Given the description of an element on the screen output the (x, y) to click on. 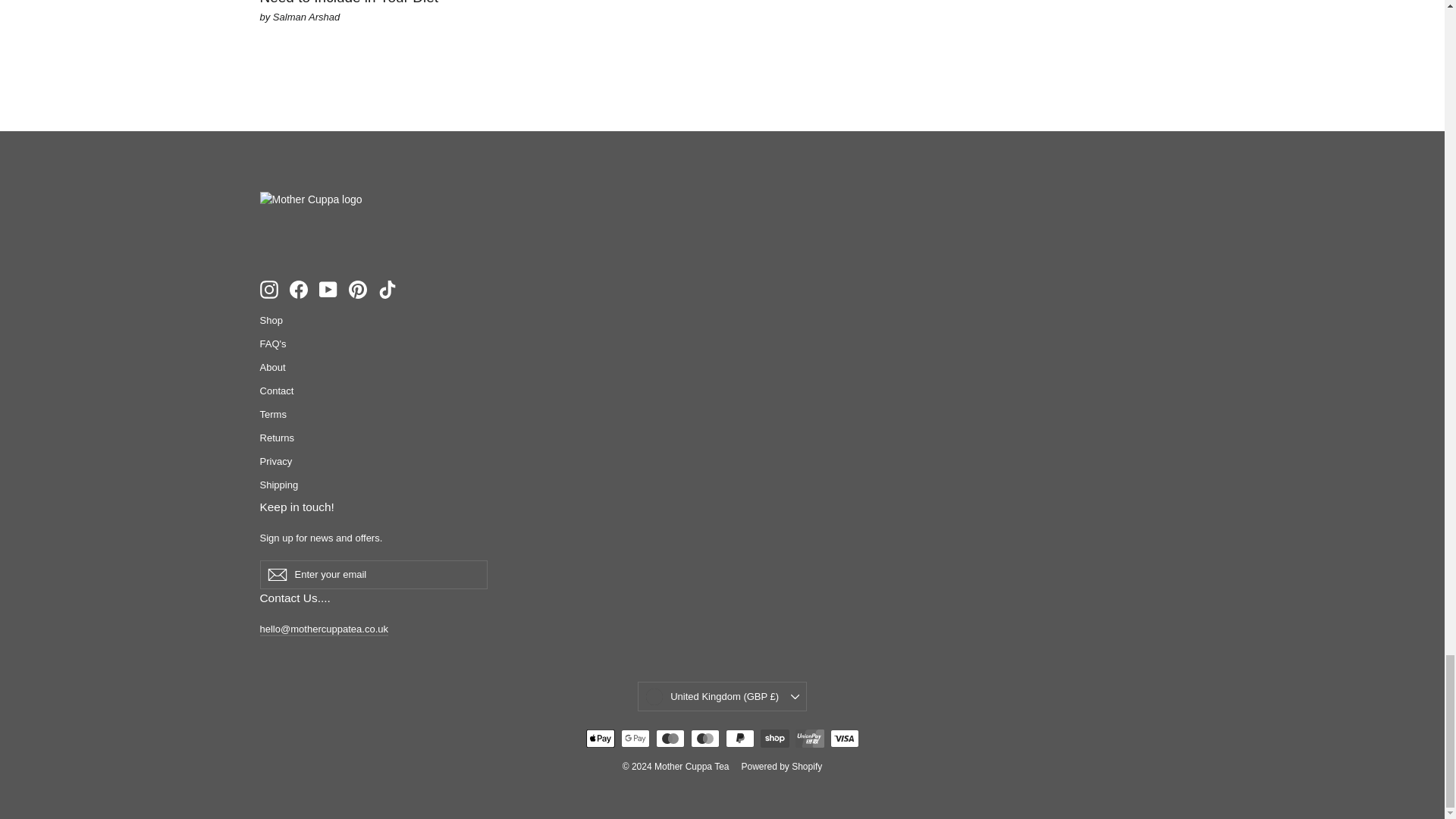
Mastercard (704, 738)
Mother Cuppa Tea on YouTube (327, 289)
Apple Pay (599, 738)
Mother Cuppa Tea on Facebook (298, 289)
Mother Cuppa Tea on Instagram (268, 289)
Maestro (669, 738)
Mother Cuppa Tea on Pinterest (357, 289)
Mother Cuppa Tea on TikTok (386, 289)
Google Pay (634, 738)
